Given the description of an element on the screen output the (x, y) to click on. 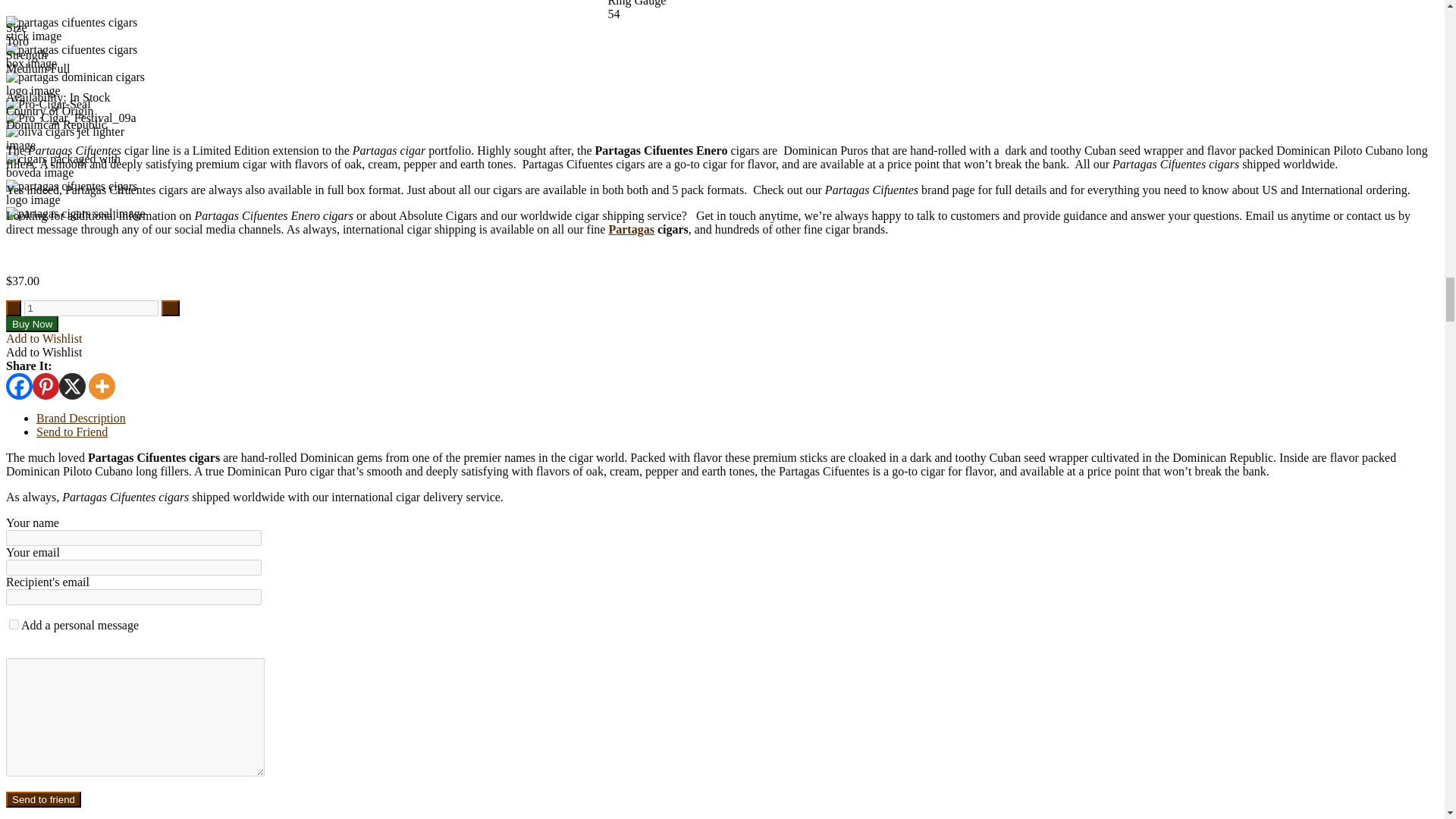
Send to friend (43, 799)
Pro-Cigar-Seal (47, 104)
- (13, 308)
partagas-cigars-DR-Logo (76, 83)
partagas-cifuentes-cigars-box-open-use-approved (76, 56)
Add a personal message (13, 624)
1 (91, 308)
partagas-cifuentes-cigars-stick (76, 29)
